Given the description of an element on the screen output the (x, y) to click on. 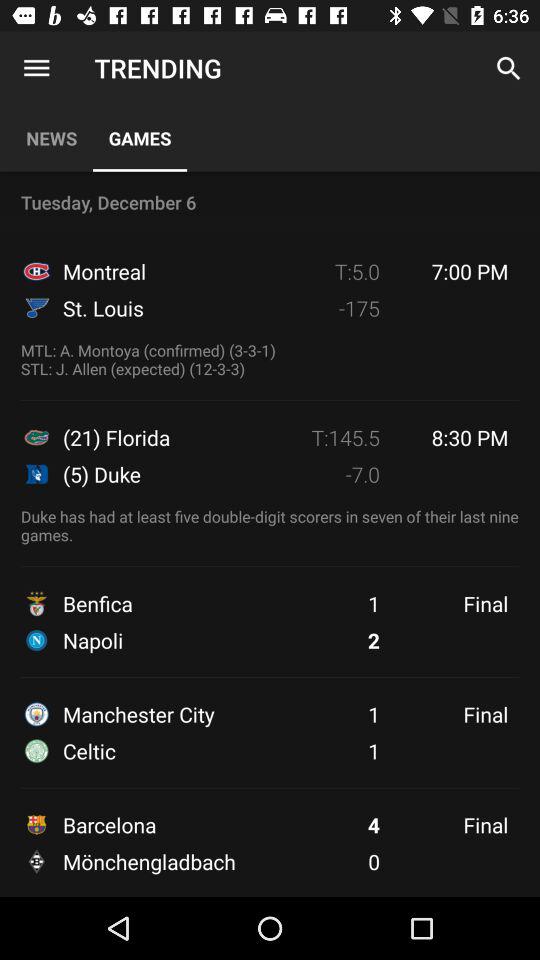
click icon to the left of games item (36, 68)
